Given the description of an element on the screen output the (x, y) to click on. 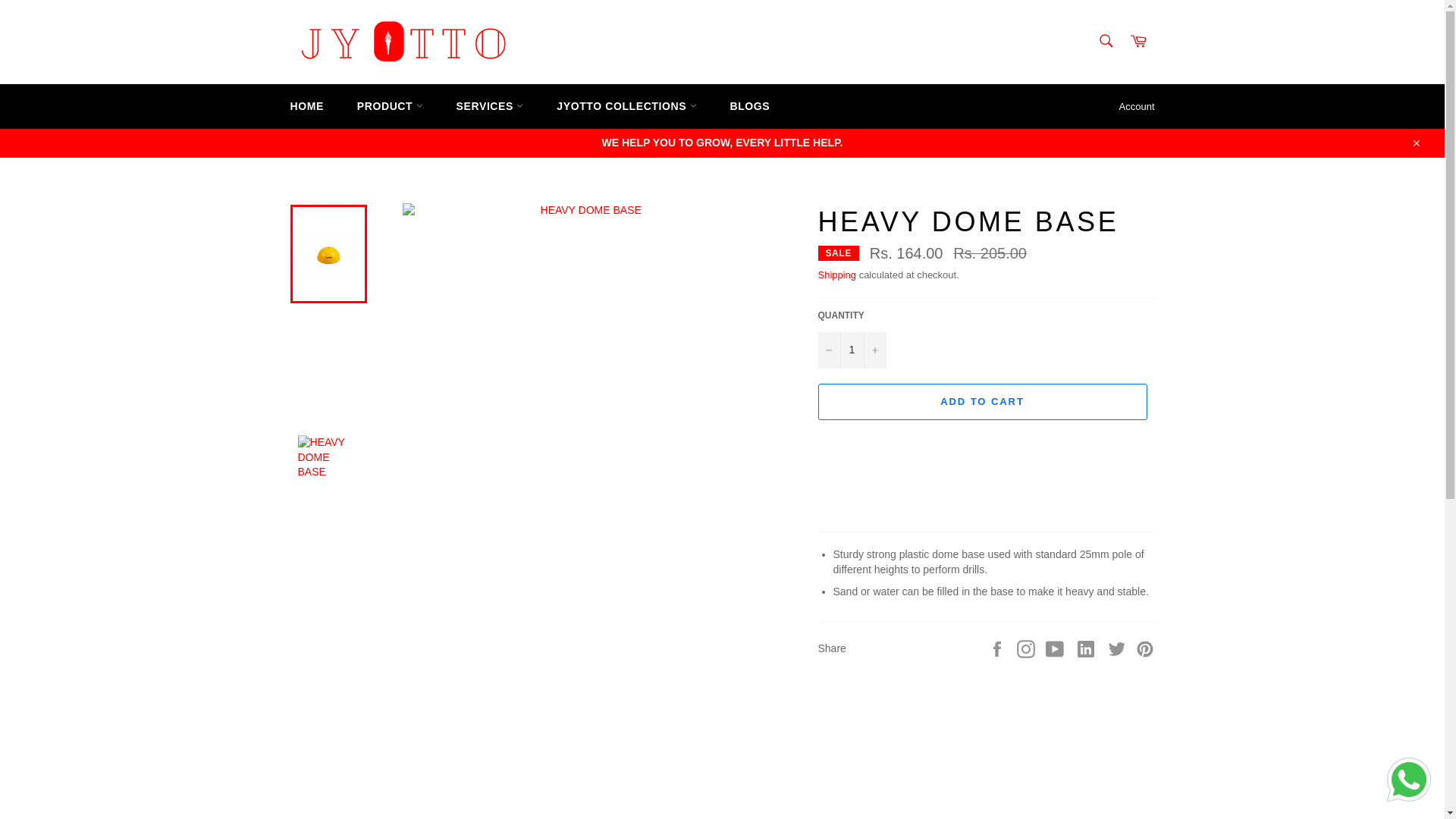
Share on Facebook (998, 648)
1 (850, 350)
Tweet on Twitter (1118, 648)
Pin on Pinterest (1144, 648)
